Given the description of an element on the screen output the (x, y) to click on. 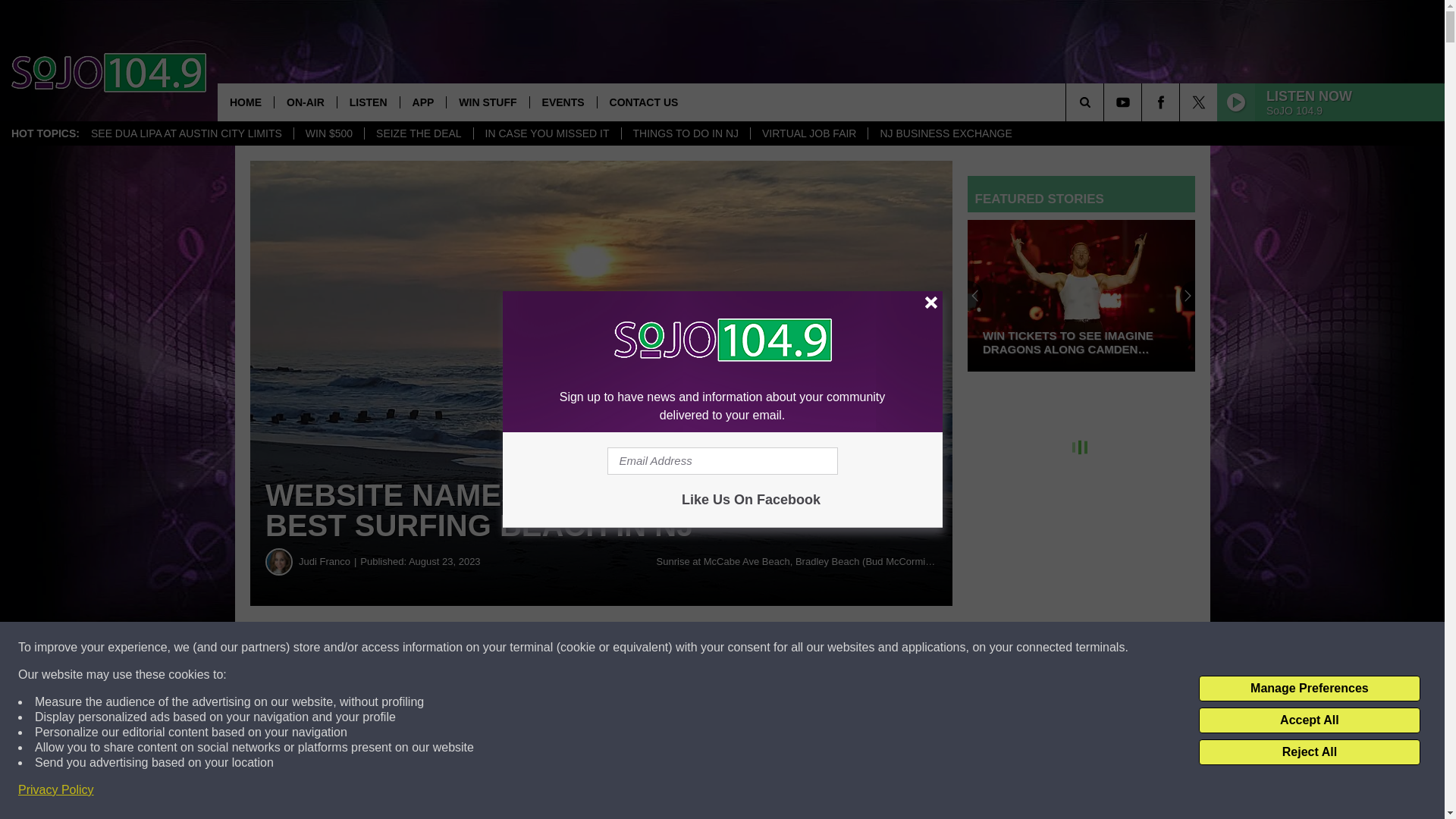
SEIZE THE DEAL (418, 133)
WIN STUFF (486, 102)
Reject All (1309, 751)
SEE DUA LIPA AT AUSTIN CITY LIMITS (187, 133)
THINGS TO DO IN NJ (684, 133)
HOME (244, 102)
ON-AIR (304, 102)
Privacy Policy (55, 789)
SEARCH (1106, 102)
IN CASE YOU MISSED IT (547, 133)
Share on Twitter (741, 647)
LISTEN (367, 102)
Share on Facebook (460, 647)
VIRTUAL JOB FAIR (808, 133)
APP (422, 102)
